Given the description of an element on the screen output the (x, y) to click on. 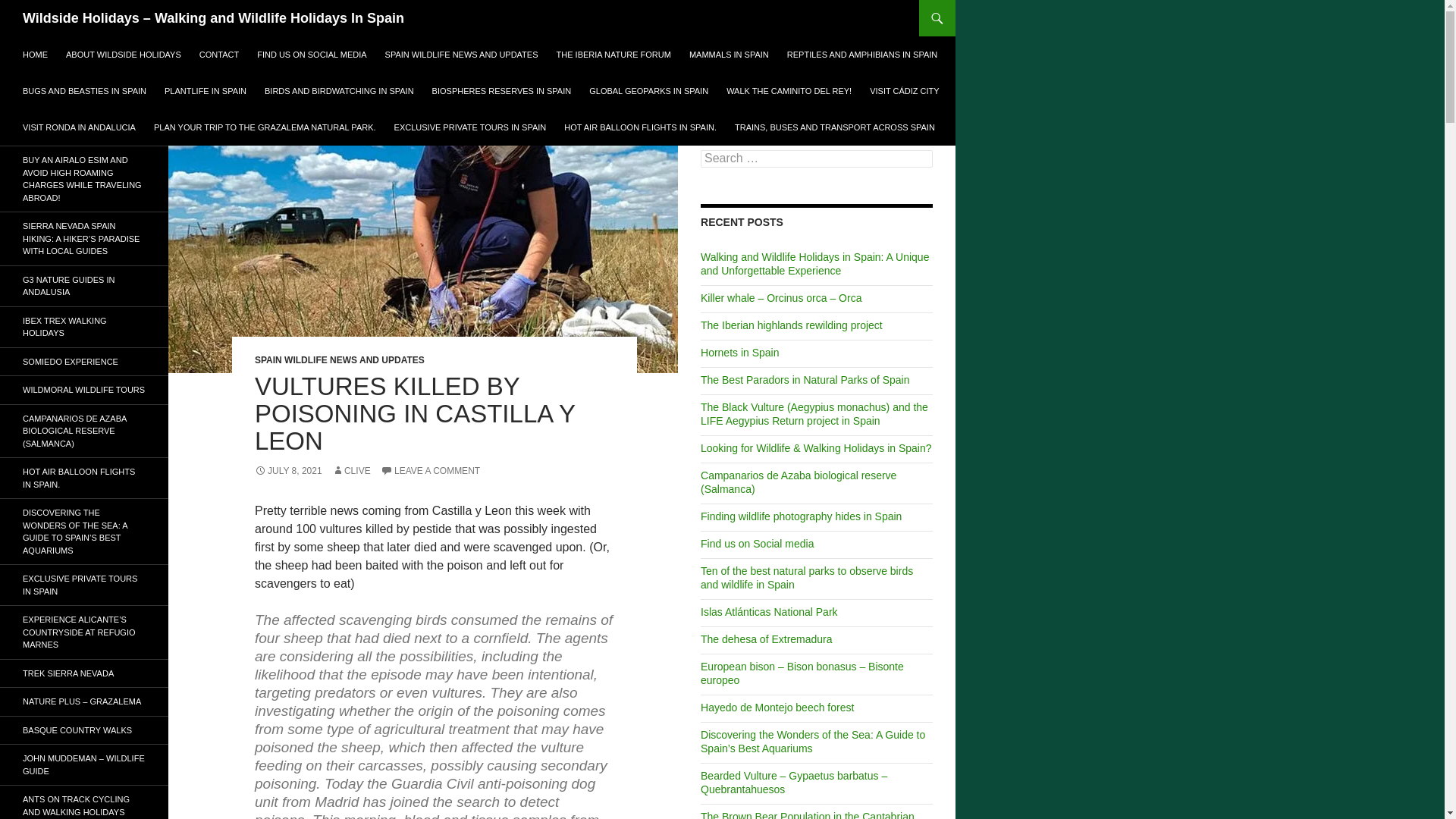
TRAINS, BUSES AND TRANSPORT ACROSS SPAIN (834, 126)
FIND US ON SOCIAL MEDIA (311, 54)
PLANTLIFE IN SPAIN (205, 90)
HOT AIR BALLOON FLIGHTS IN SPAIN. (639, 126)
THE IBERIA NATURE FORUM (613, 54)
CLIVE (351, 470)
BUGS AND BEASTIES IN SPAIN (84, 90)
MAMMALS IN SPAIN (728, 54)
SPAIN WILDLIFE NEWS AND UPDATES (339, 359)
